Given the description of an element on the screen output the (x, y) to click on. 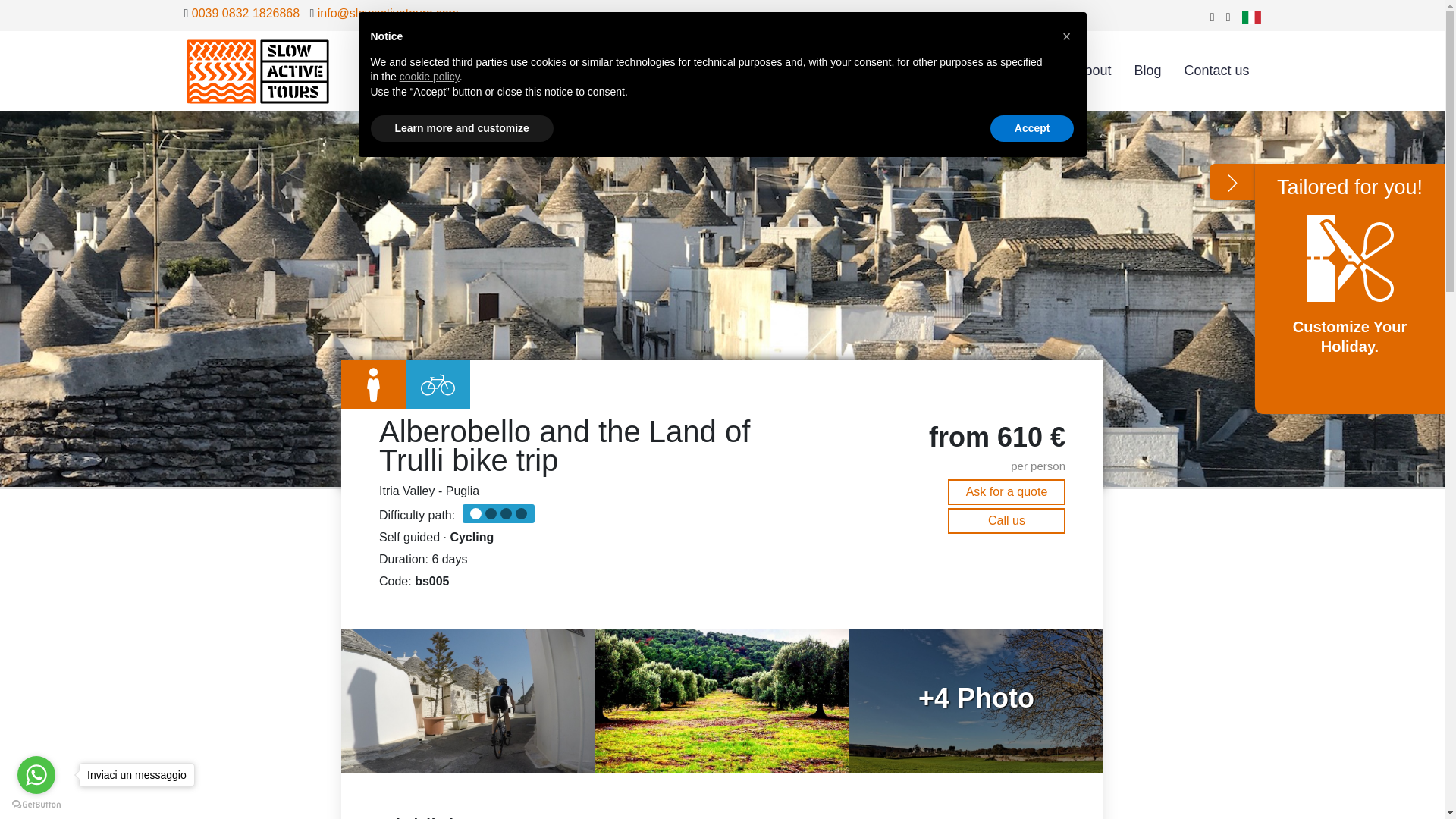
0039 0832 1826868 (245, 12)
Call us (1006, 520)
Ask for a quote (1006, 492)
Bike Rental (1017, 70)
Contact us (1216, 70)
